Given the description of an element on the screen output the (x, y) to click on. 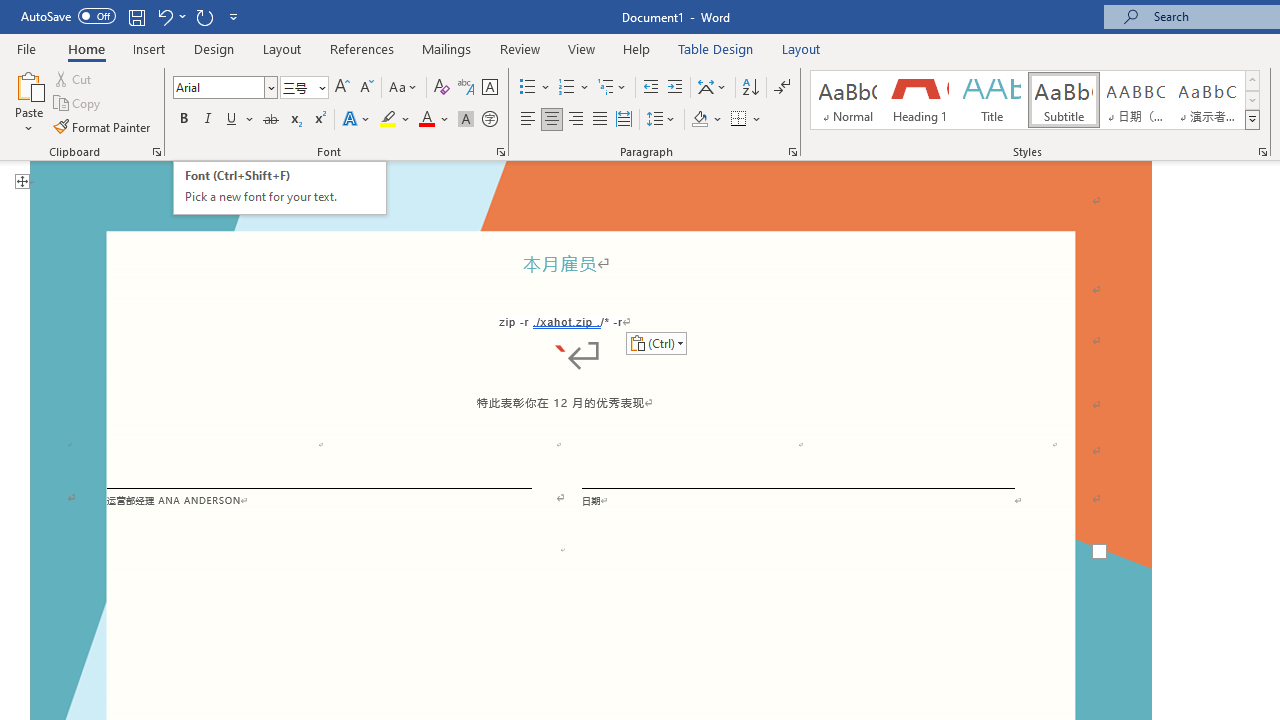
Action: Paste alternatives (656, 342)
